Given the description of an element on the screen output the (x, y) to click on. 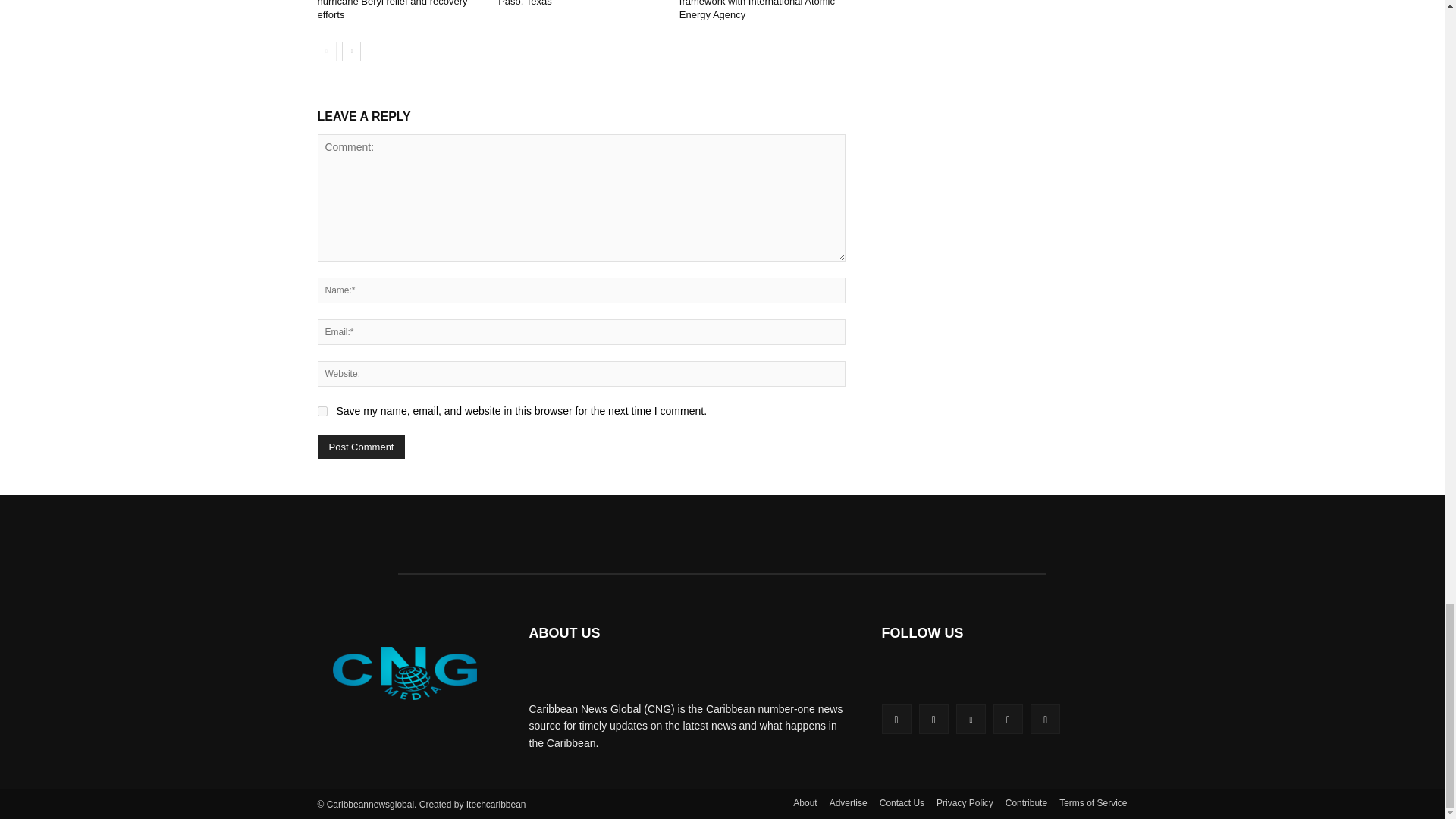
Post Comment (360, 446)
yes (321, 411)
